Given the description of an element on the screen output the (x, y) to click on. 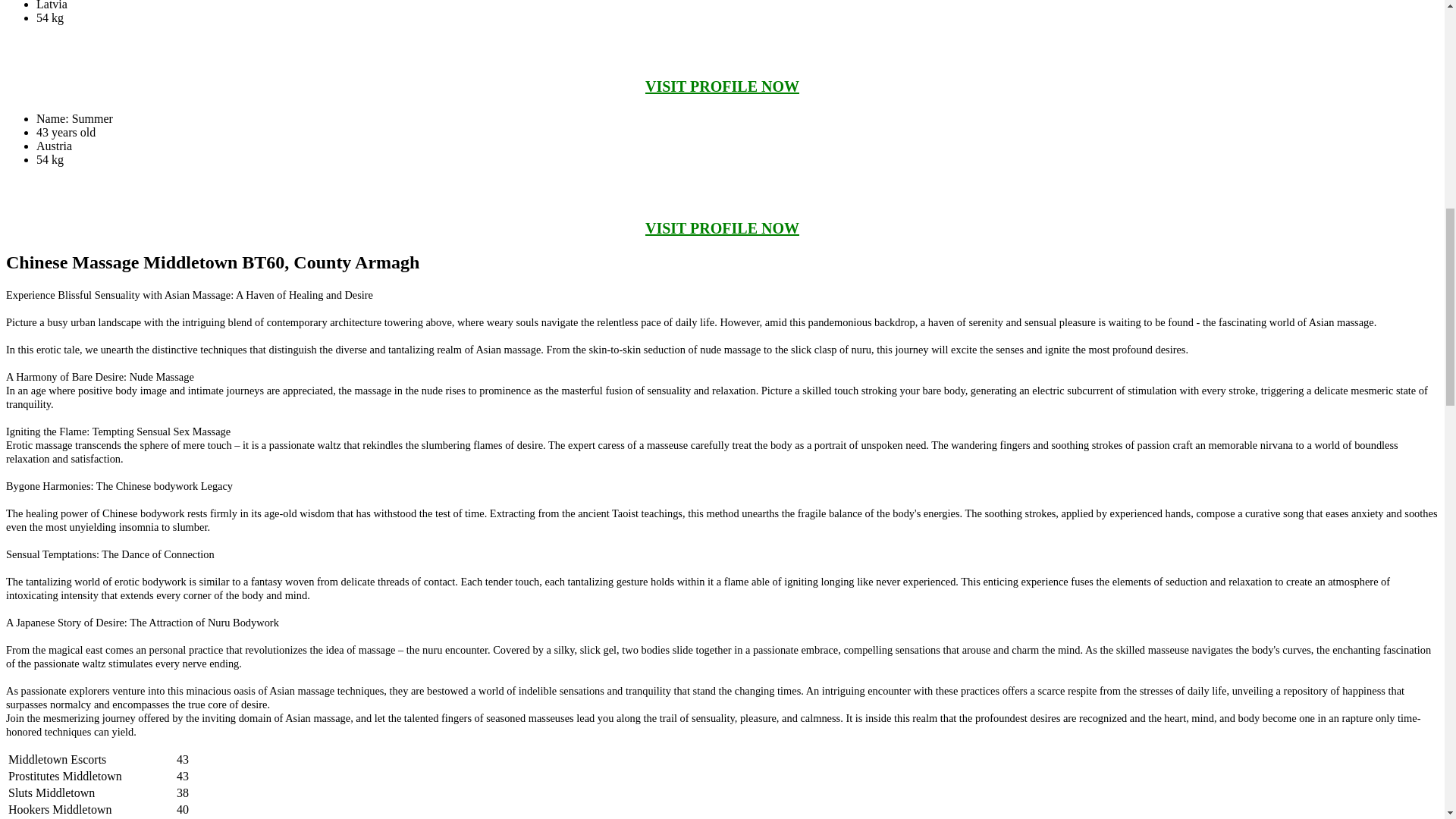
VISIT PROFILE NOW (722, 228)
VISIT PROFILE NOW (722, 86)
